Given the description of an element on the screen output the (x, y) to click on. 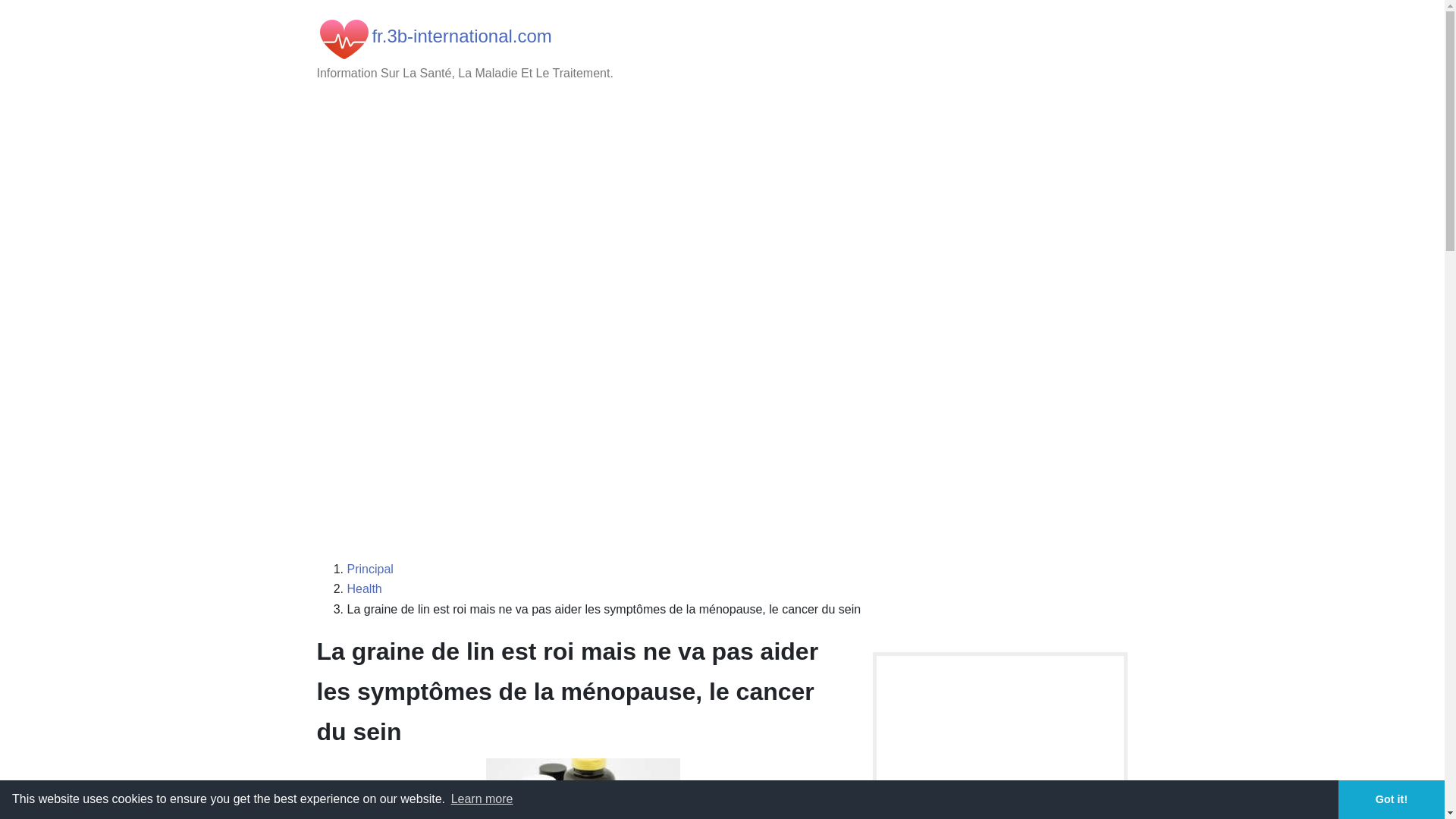
fr.3b-international.com Element type: text (461, 35)
Advertisement Element type: hover (722, 217)
Advertisement Element type: hover (722, 438)
Health Element type: text (364, 588)
Principal Element type: text (370, 568)
Learn more Element type: text (481, 798)
